Given the description of an element on the screen output the (x, y) to click on. 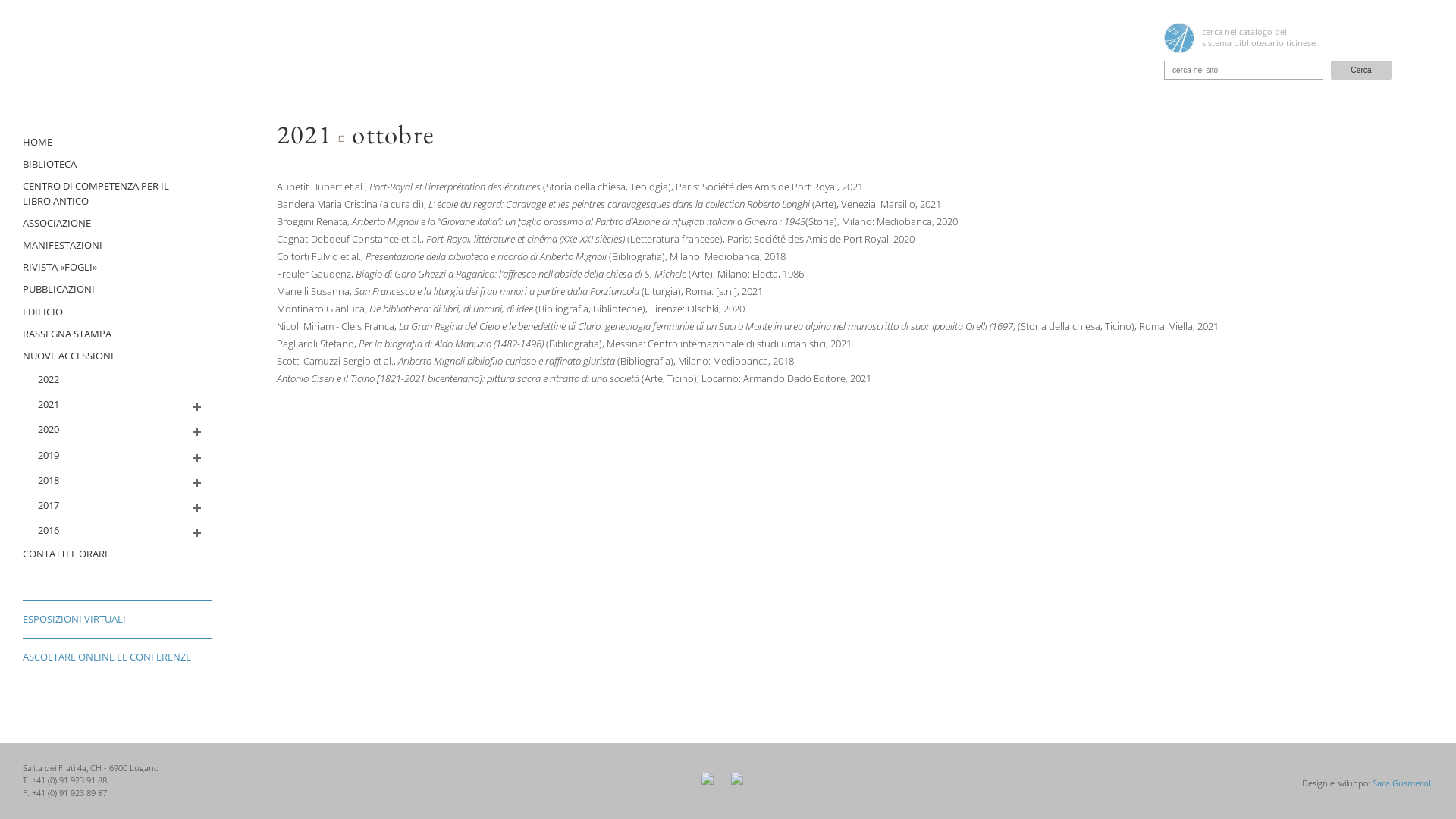
PUBBLICAZIONI Element type: text (117, 289)
HOME Element type: text (117, 142)
ASCOLTARE ONLINE LE CONFERENZE Element type: text (117, 657)
2018 Element type: text (117, 479)
2016 Element type: text (117, 529)
ASSOCIAZIONE Element type: text (117, 223)
CENTRO DI COMPETENZA PER IL LIBRO ANTICO Element type: text (117, 193)
2022 Element type: text (117, 379)
2021 Element type: text (117, 404)
EDIFICIO Element type: text (117, 311)
BIBLIOTECA Element type: text (117, 164)
ESPOSIZIONI VIRTUALI Element type: text (117, 619)
Sara Gusmeroli Element type: text (1402, 782)
CONTATTI E ORARI Element type: text (117, 553)
2020 Element type: text (117, 429)
2019 Element type: text (117, 454)
NUOVE ACCESSIONI Element type: text (117, 356)
cerca nel catalogo del
sistema bibliotecario ticinese Element type: text (1277, 37)
MANIFESTAZIONI Element type: text (117, 245)
RASSEGNA STAMPA Element type: text (117, 334)
Cerca Element type: text (1360, 69)
2017 Element type: text (117, 504)
